Given the description of an element on the screen output the (x, y) to click on. 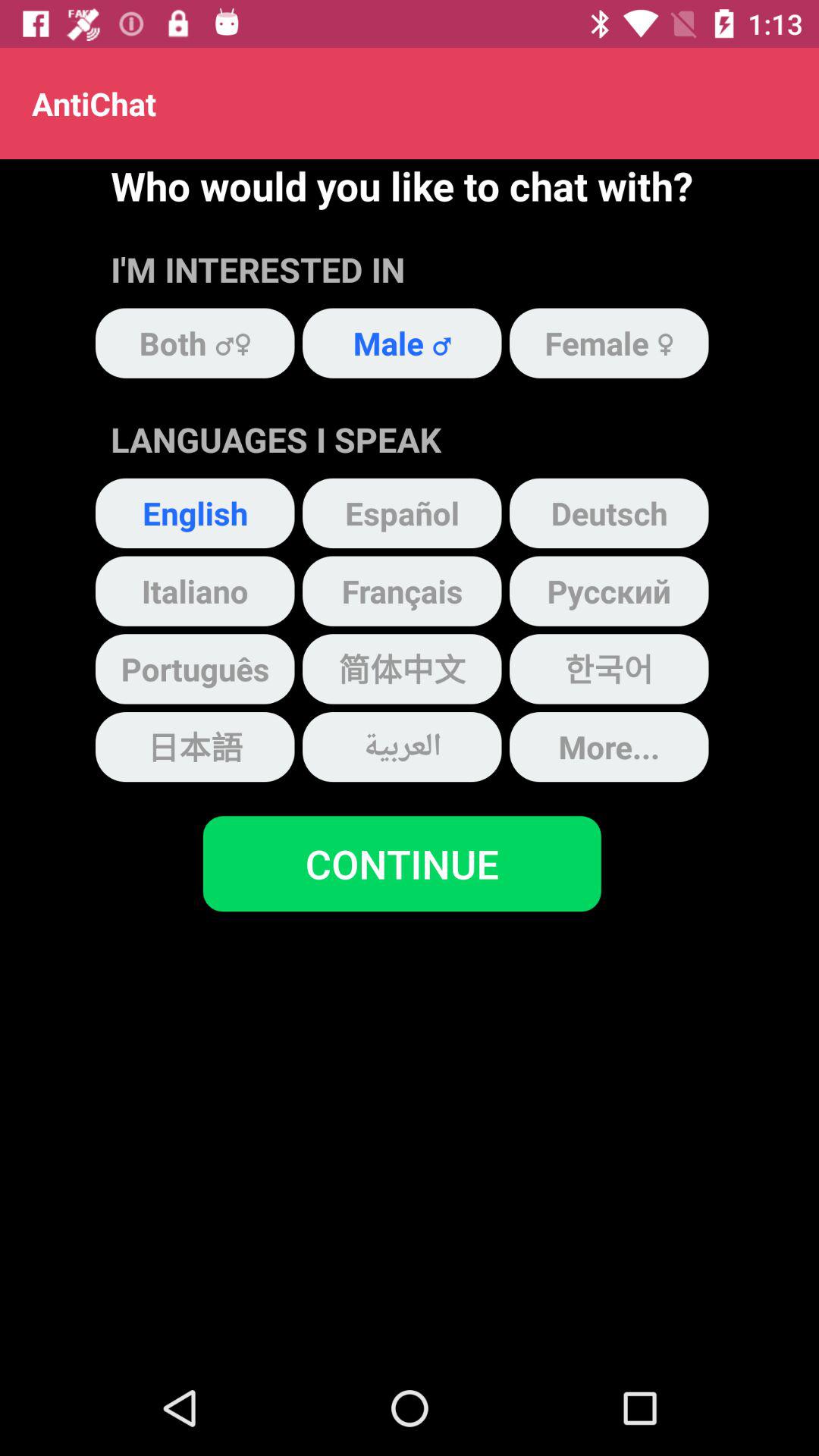
choose item below i m interested item (401, 343)
